Given the description of an element on the screen output the (x, y) to click on. 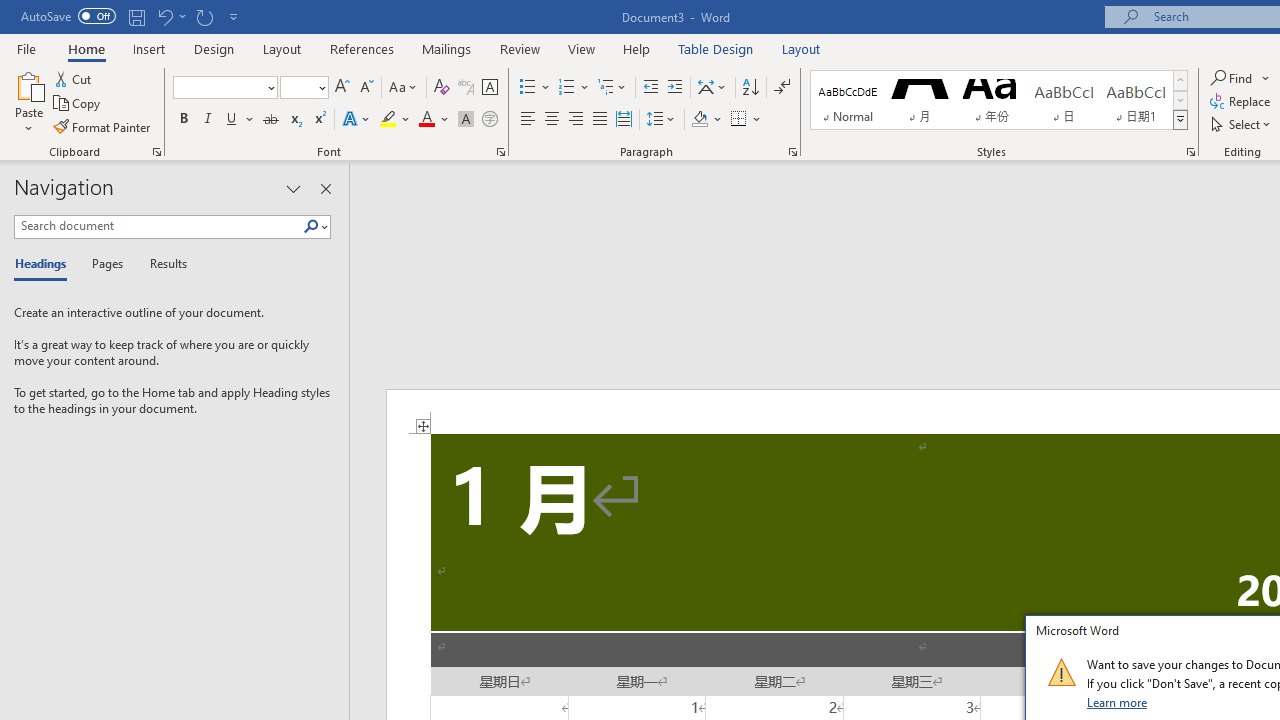
Copy (78, 103)
Replace... (1242, 101)
Center (552, 119)
Font Color RGB(255, 0, 0) (426, 119)
Increase Indent (675, 87)
Asian Layout (712, 87)
Align Left (527, 119)
Line and Paragraph Spacing (661, 119)
Select (1242, 124)
Table Design (715, 48)
